Given the description of an element on the screen output the (x, y) to click on. 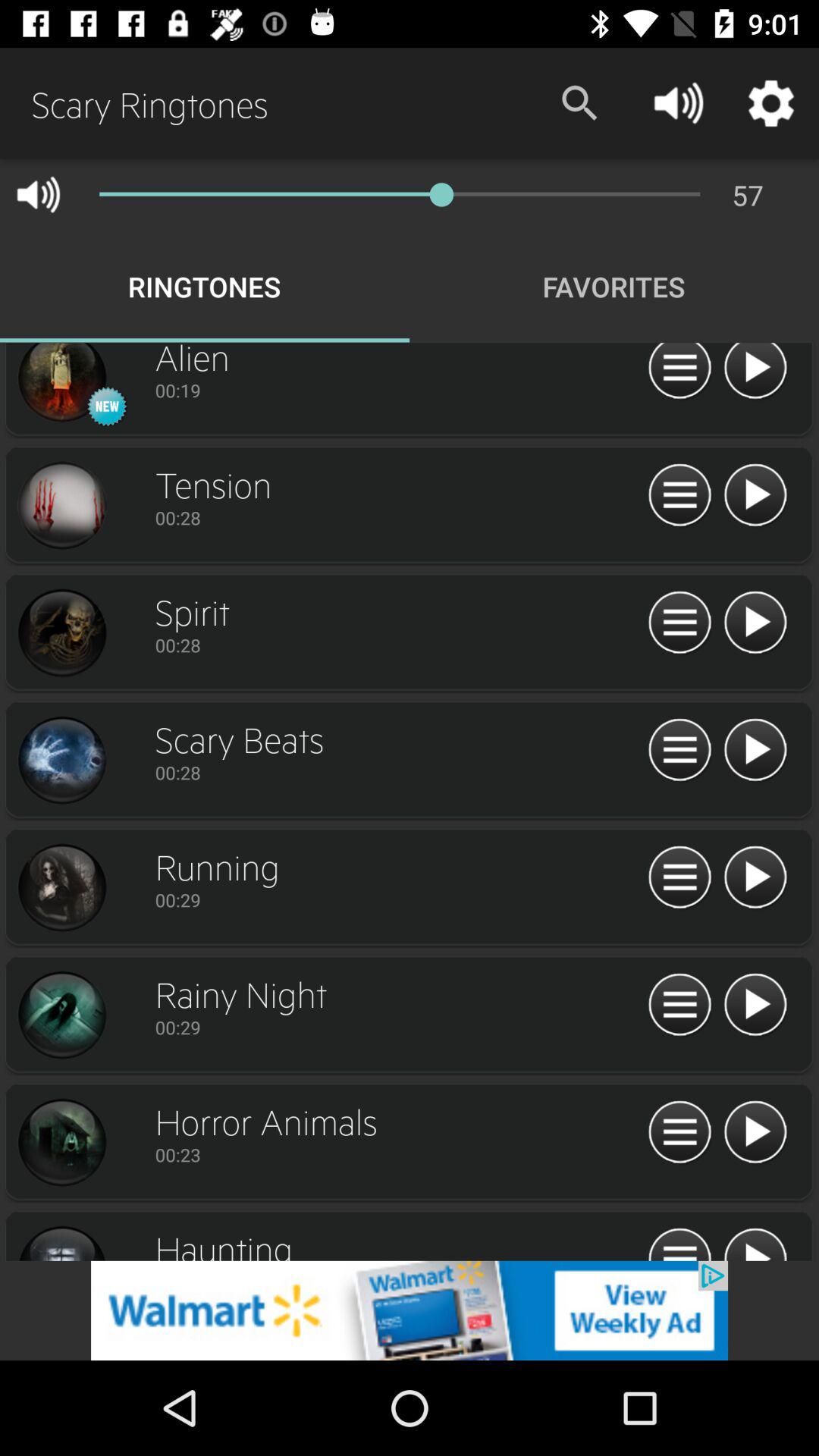
play song (755, 623)
